Given the description of an element on the screen output the (x, y) to click on. 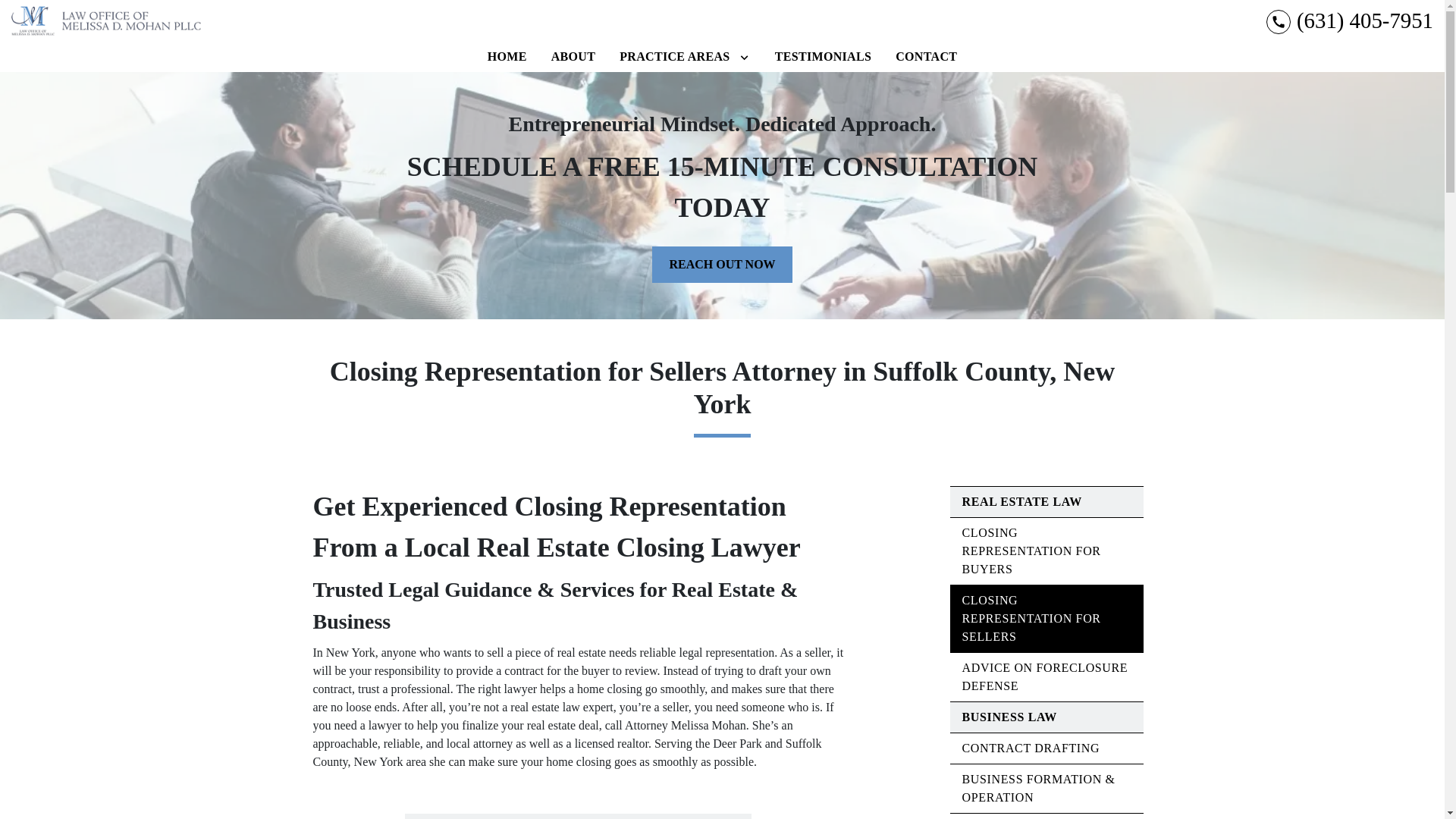
TESTIMONIALS (822, 56)
ADVICE ON FORECLOSURE DEFENSE (1043, 676)
ABOUT (573, 56)
HOME (506, 56)
CLOSING REPRESENTATION FOR BUYERS (1030, 550)
CLOSING REPRESENTATION FOR SELLERS (1030, 617)
REACH OUT NOW (722, 264)
CONTRACT DRAFTING (1029, 748)
PRACTICE AREAS (673, 56)
CONTACT (925, 56)
